Given the description of an element on the screen output the (x, y) to click on. 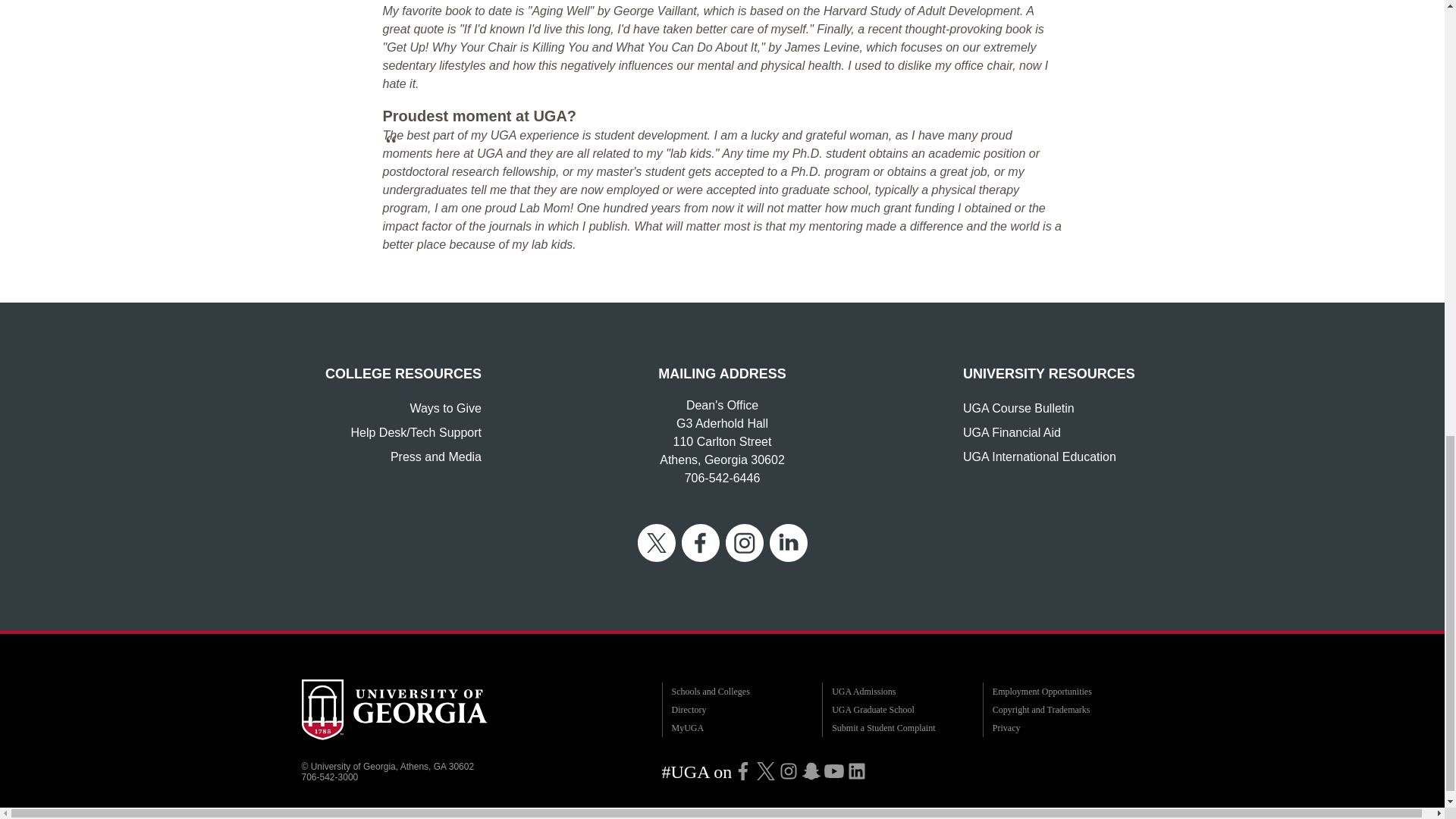
Facebook (743, 770)
Snapchat (810, 770)
YouTube (833, 770)
LinkedIn (856, 770)
Instagram (788, 770)
Twitter (765, 770)
